Given the description of an element on the screen output the (x, y) to click on. 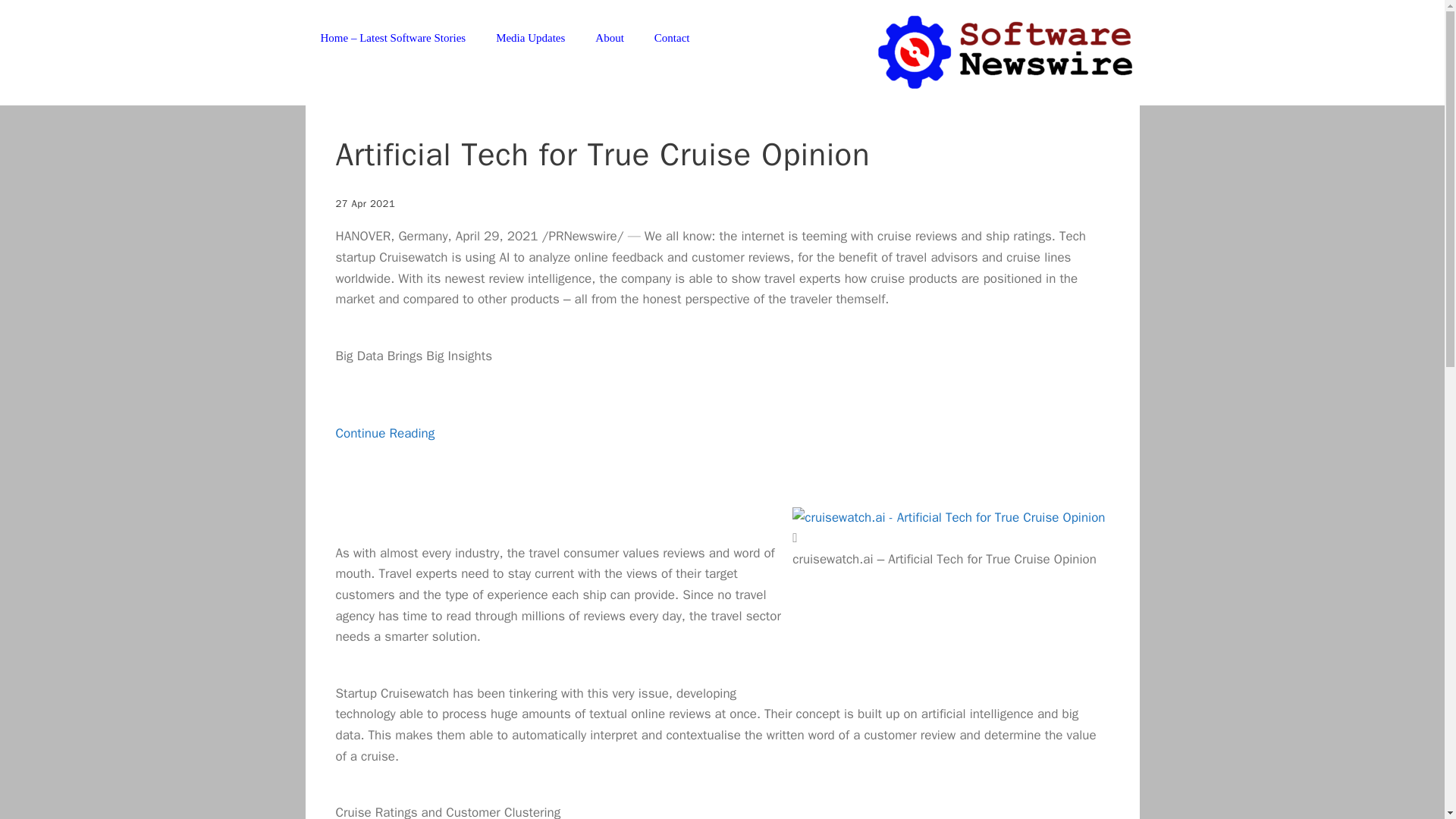
About (609, 37)
Continue Reading (383, 454)
cruisewatch.ai - Artificial Tech for True Cruise Opinion (948, 517)
Media Updates (529, 37)
Continue Reading (383, 454)
Contact (671, 37)
